Given the description of an element on the screen output the (x, y) to click on. 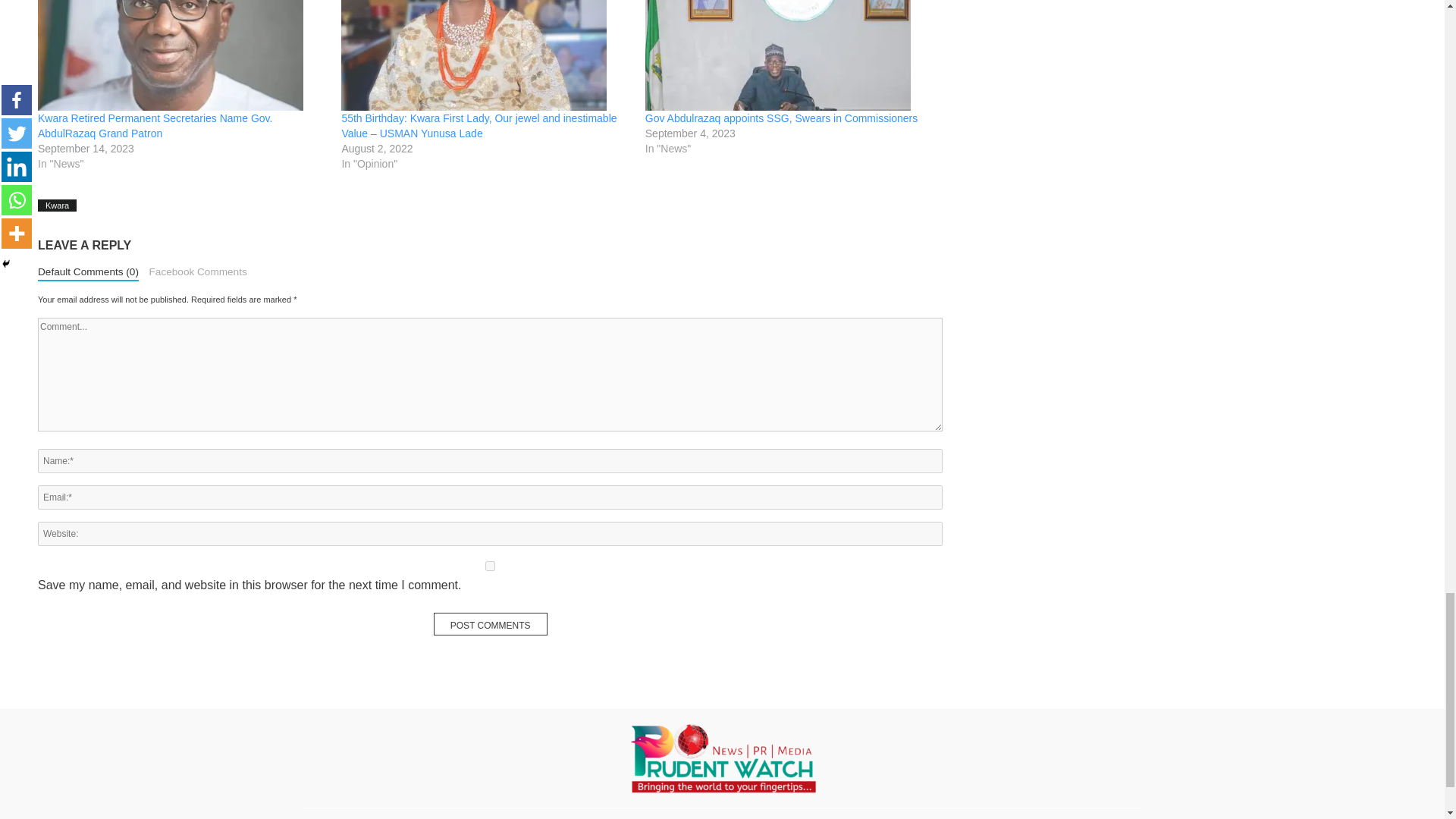
Gov Abdulrazaq appoints SSG, Swears in Commissioners (781, 118)
Gov Abdulrazaq appoints SSG, Swears in Commissioners (789, 55)
